Given the description of an element on the screen output the (x, y) to click on. 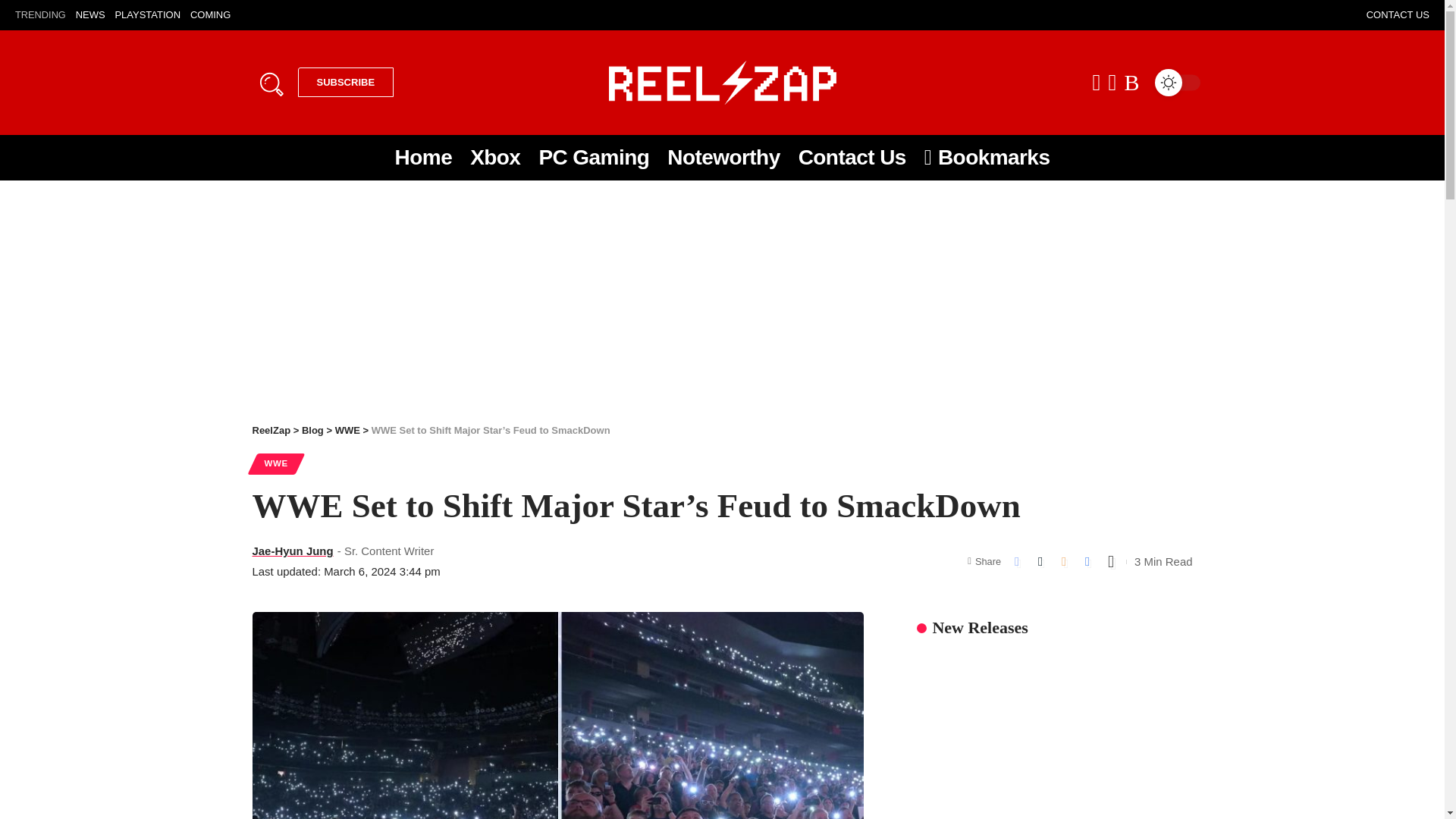
Go to the WWE Category archives. (346, 430)
CONTACT US (1398, 14)
Contact Us (852, 157)
PC Gaming (593, 157)
Bookmarks (987, 157)
CONTACT US (1398, 14)
Go to Blog. (312, 430)
Go to ReelZap. (270, 430)
NEWS (89, 14)
Noteworthy (723, 157)
PLAYSTATION (147, 14)
Home (423, 157)
SUBSCRIBE (345, 82)
COMING (210, 14)
